Given the description of an element on the screen output the (x, y) to click on. 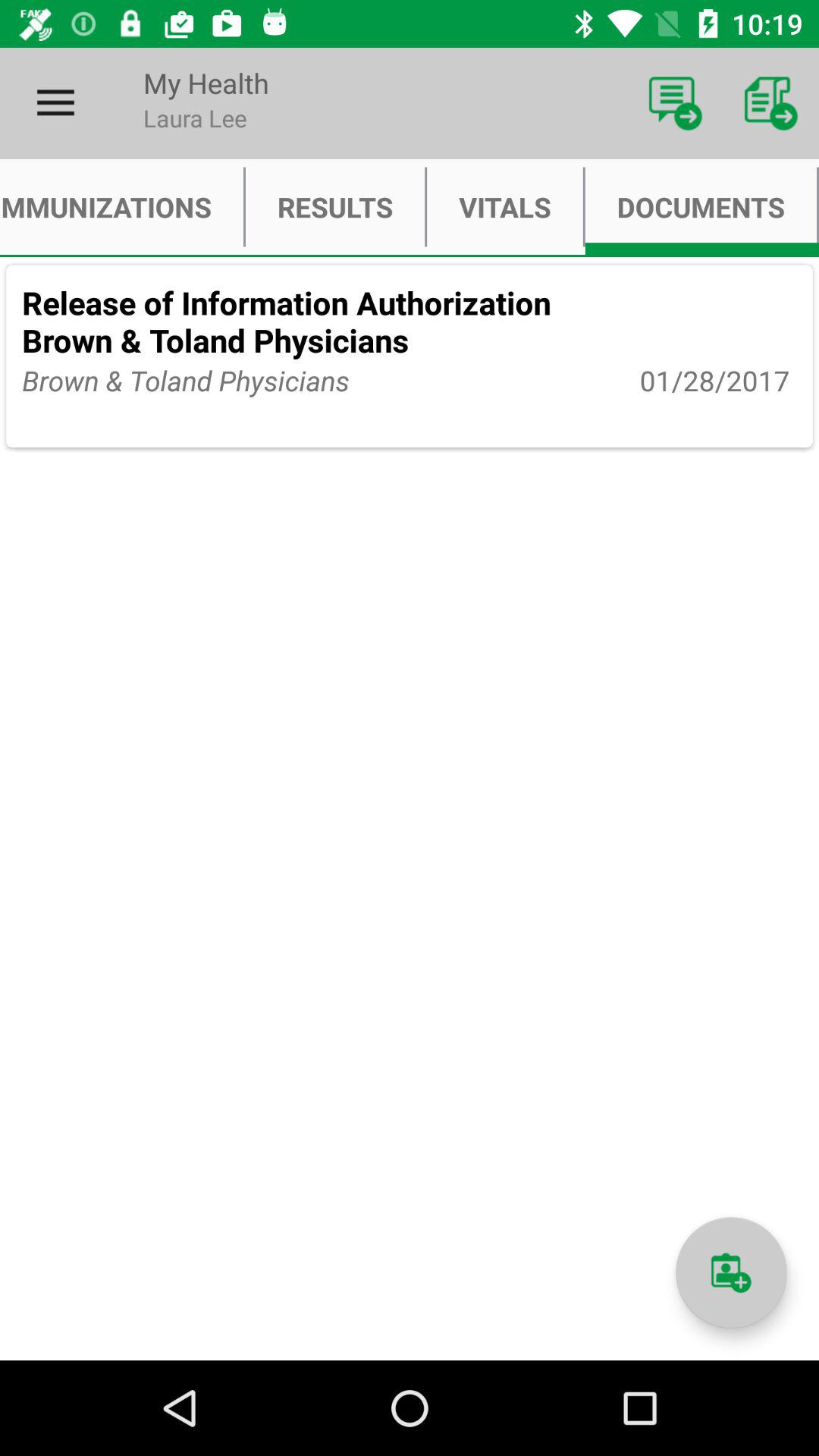
select icon above the documents (771, 103)
